Given the description of an element on the screen output the (x, y) to click on. 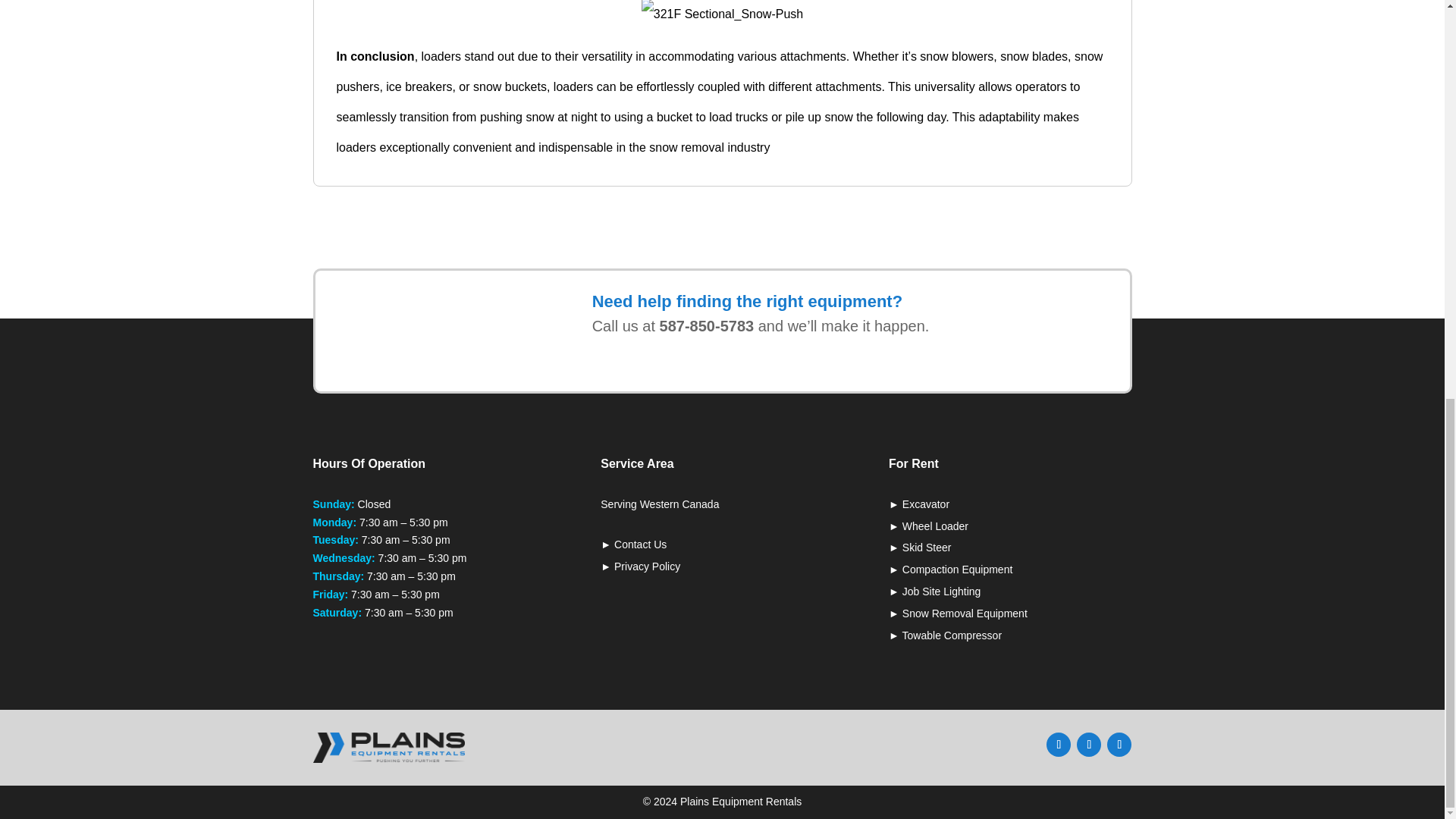
Follow on LinkedIn (1088, 744)
PLAINS FINAL LOGO-01 copy (388, 747)
Follow on Instagram (1118, 744)
Follow on Facebook (1058, 744)
